Given the description of an element on the screen output the (x, y) to click on. 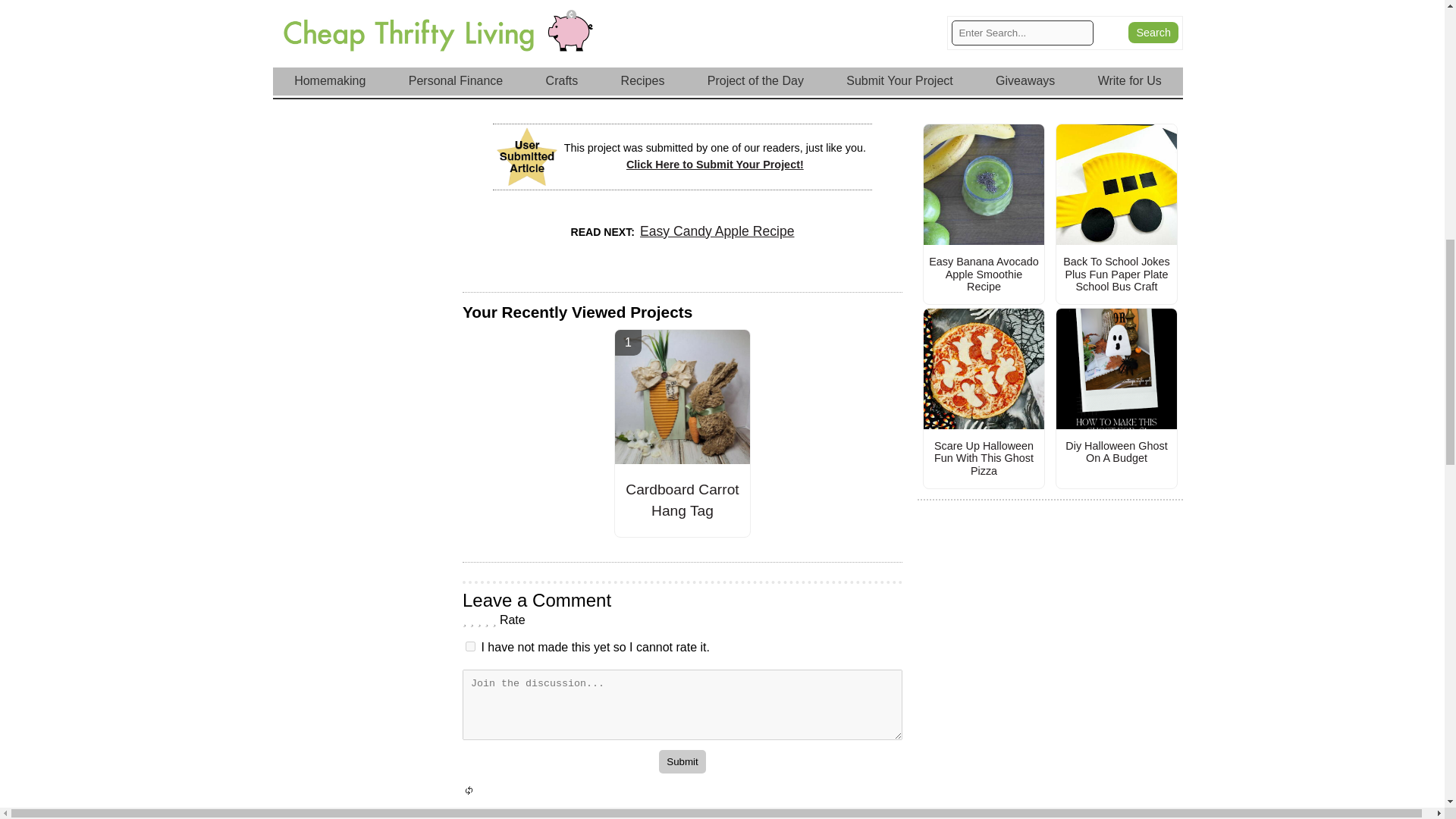
Facebook (682, 81)
Submit (681, 761)
1 (470, 646)
Email (829, 81)
